Given the description of an element on the screen output the (x, y) to click on. 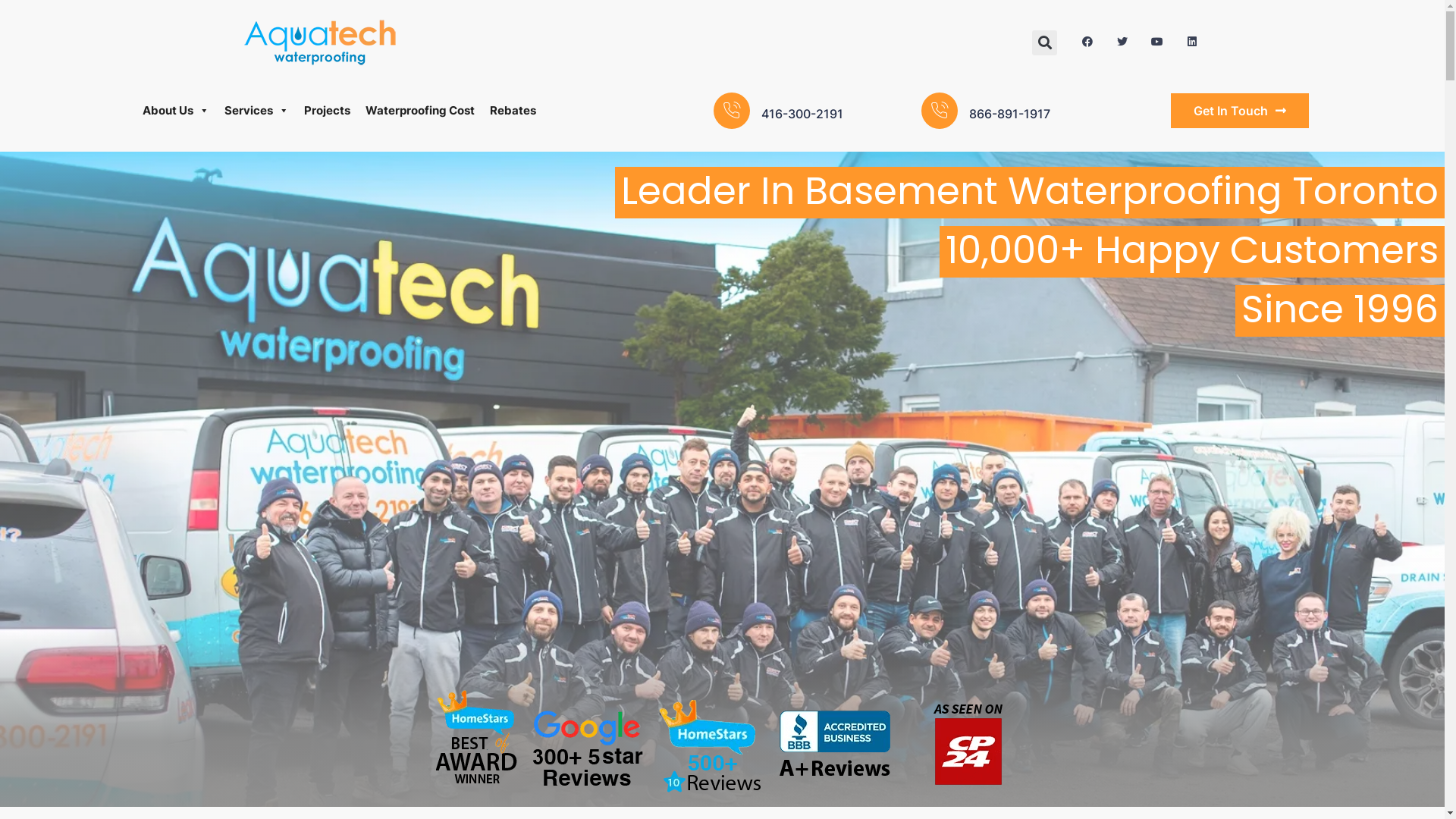
Services Element type: text (256, 110)
Waterproofing Cost Element type: text (419, 110)
Projects Element type: text (326, 110)
866-891-1917 Element type: text (1009, 113)
416-300-2191 Element type: text (802, 113)
Rebates Element type: text (512, 110)
About Us Element type: text (175, 110)
Get In Touch Element type: text (1239, 110)
